Given the description of an element on the screen output the (x, y) to click on. 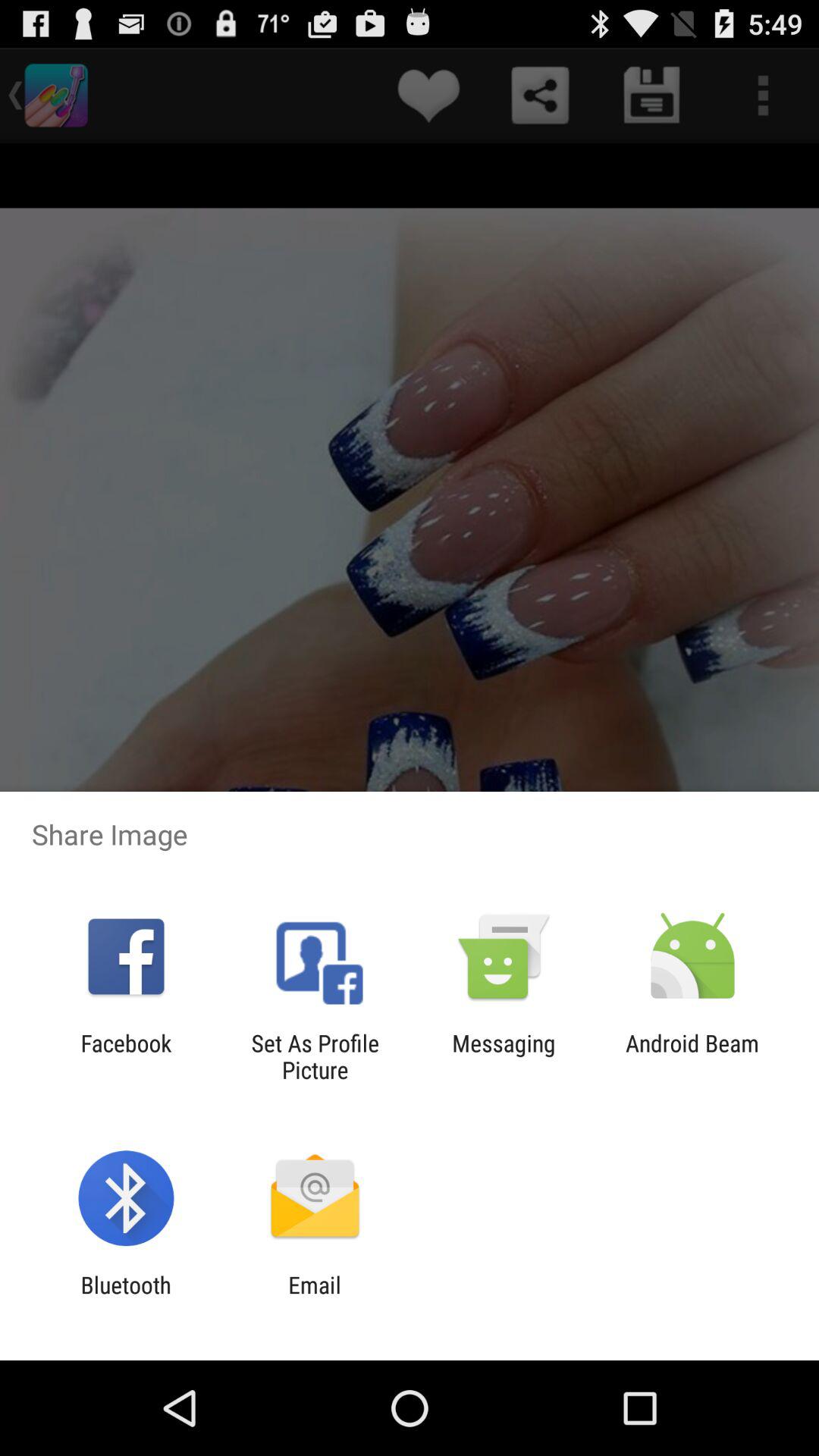
select app to the left of messaging (314, 1056)
